Given the description of an element on the screen output the (x, y) to click on. 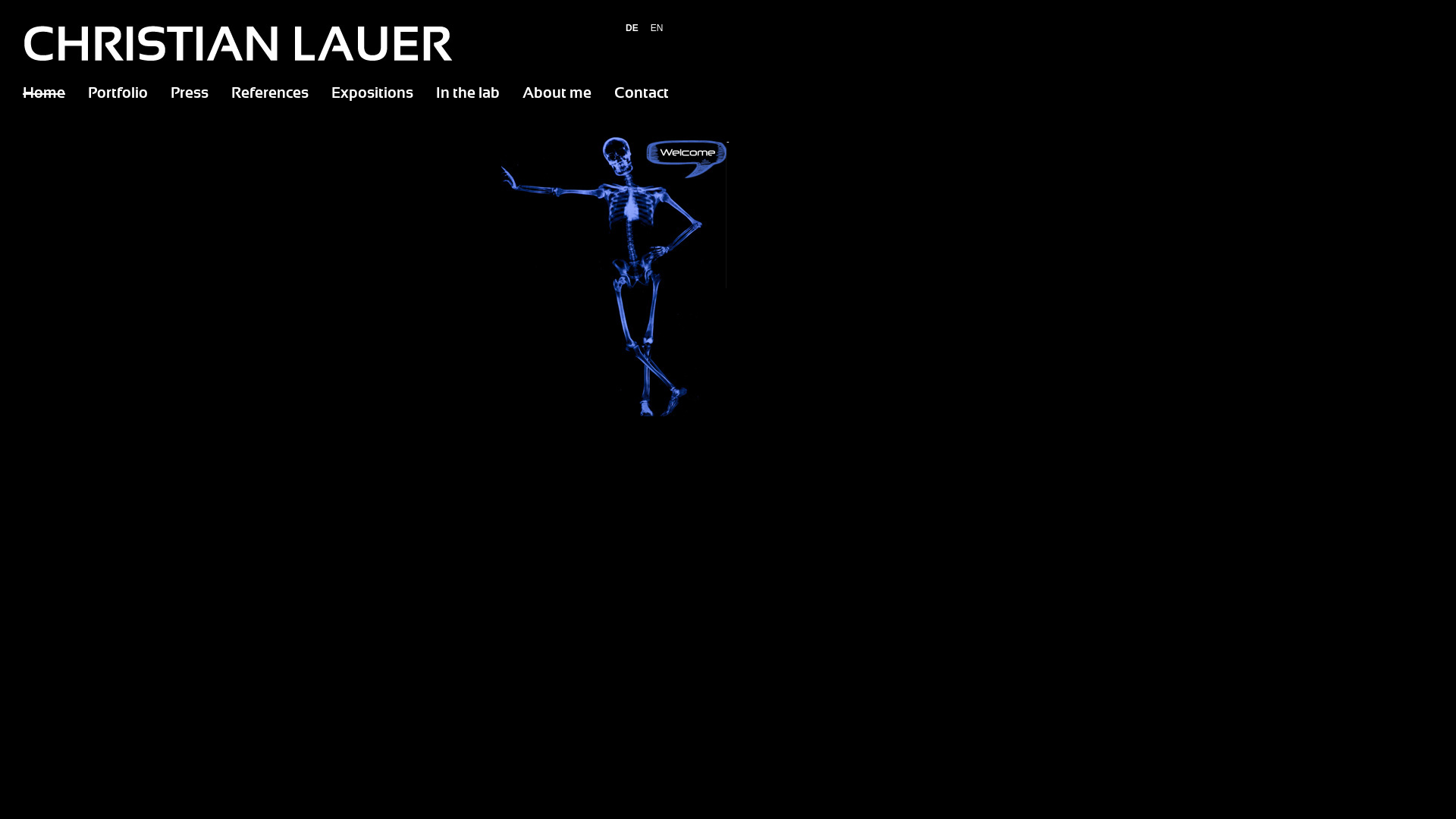
Portfolio Element type: text (117, 93)
In the lab Element type: text (467, 93)
References Element type: text (269, 93)
DE Element type: text (631, 27)
Press Element type: text (189, 93)
Expositions Element type: text (372, 93)
About me Element type: text (556, 93)
Home Element type: text (43, 93)
Contact Element type: text (641, 93)
EN Element type: text (656, 27)
